Given the description of an element on the screen output the (x, y) to click on. 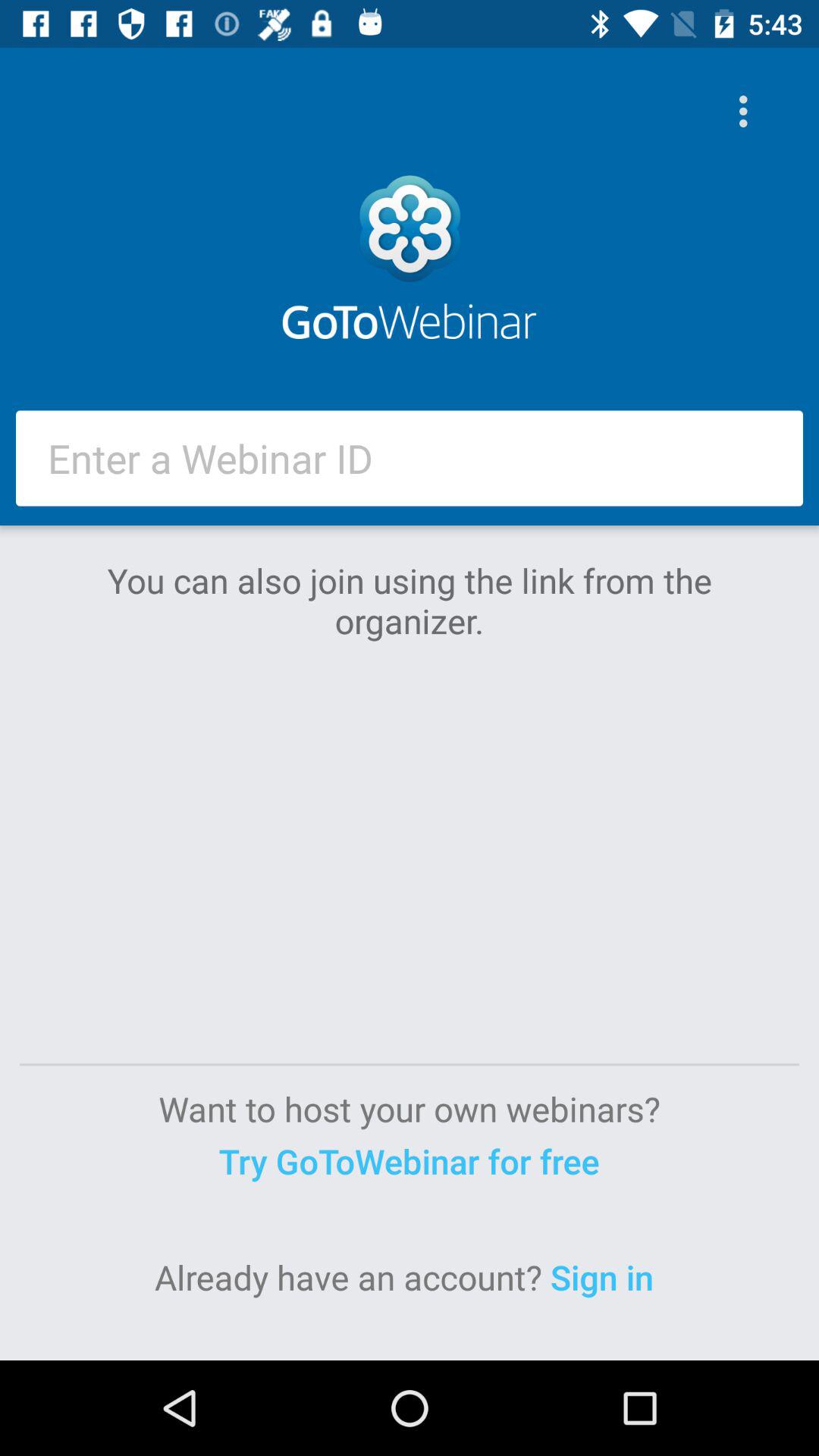
scroll until the sign in icon (606, 1276)
